Given the description of an element on the screen output the (x, y) to click on. 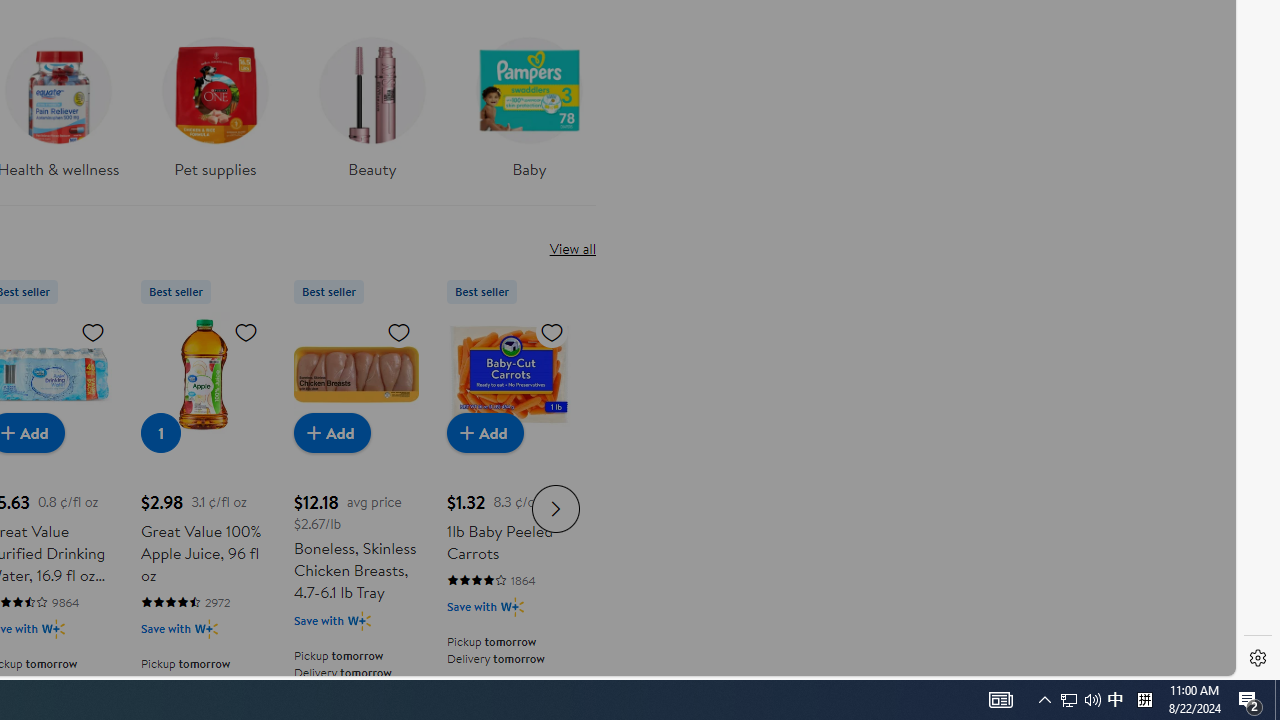
Next slide for Product Carousel list (555, 507)
1lb Baby Peeled Carrots (509, 374)
Sign in to add to Favorites list, 1lb Baby Peeled Carrots (552, 331)
Beauty (371, 101)
View all (572, 248)
